Given the description of an element on the screen output the (x, y) to click on. 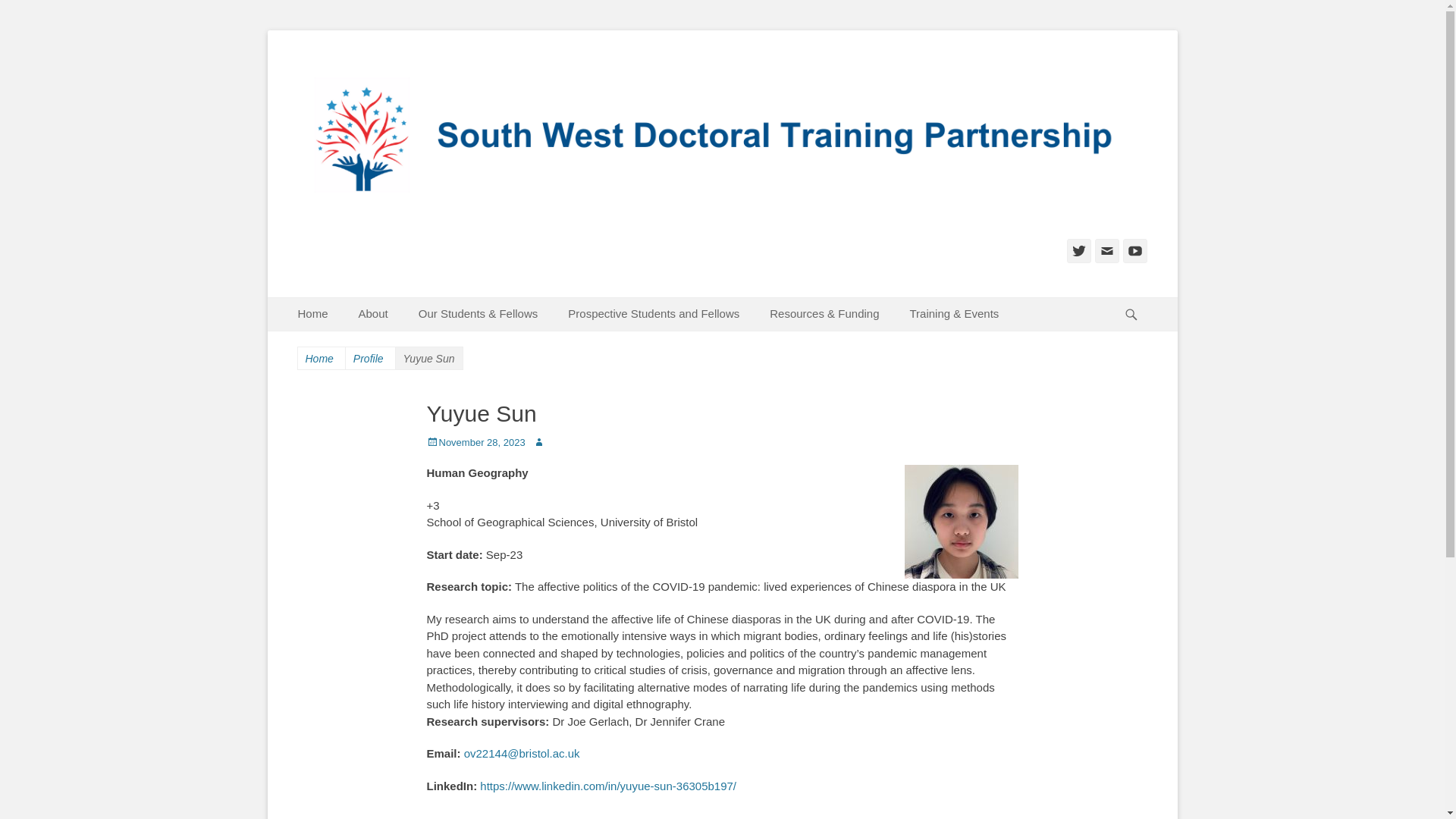
Email (1106, 250)
Prospective Students and Fellows (653, 314)
Twitter (1077, 250)
About (373, 314)
YouTube (1134, 250)
SWDTP (381, 78)
Home (312, 314)
